Given the description of an element on the screen output the (x, y) to click on. 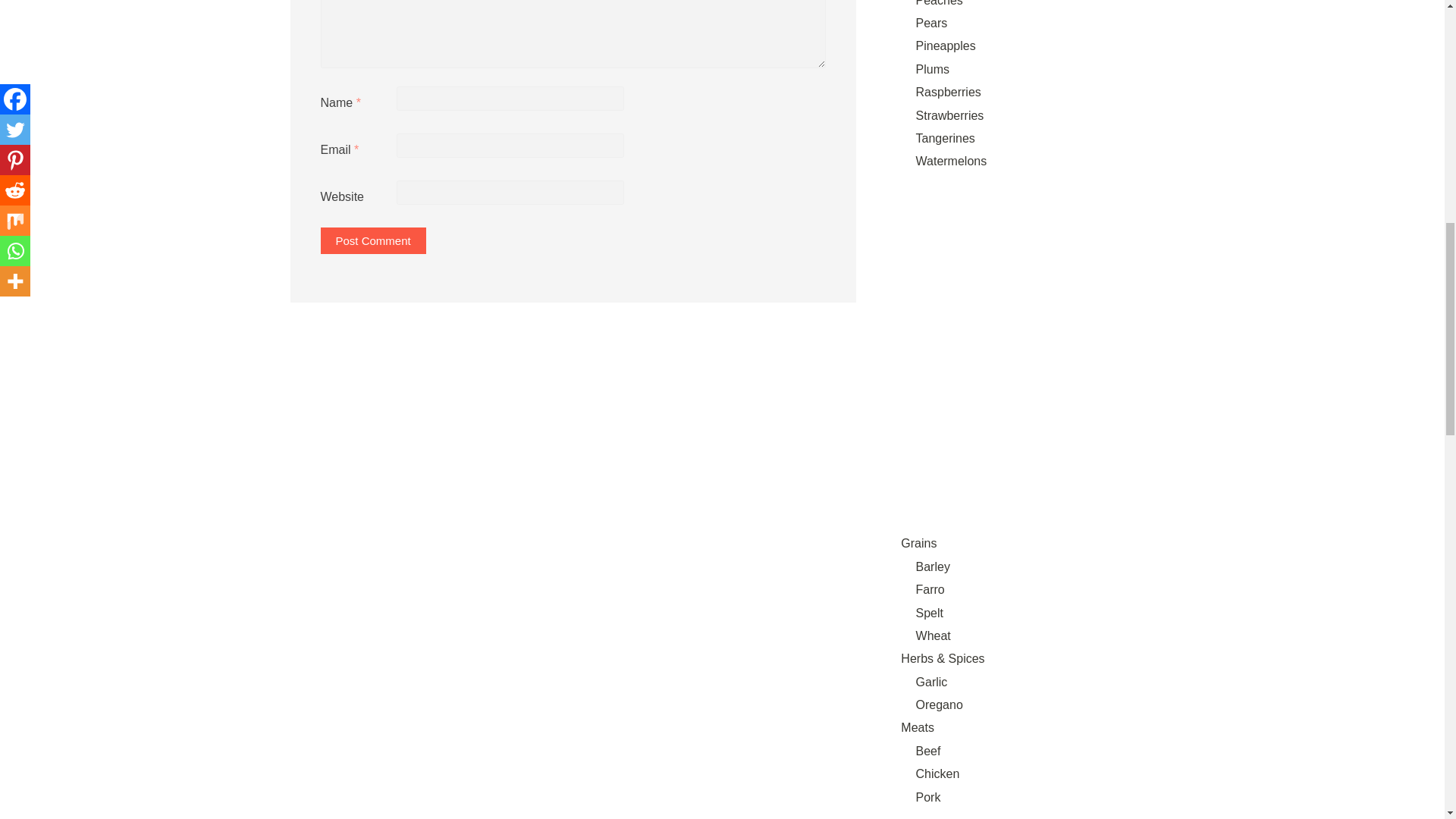
Post Comment (372, 240)
Advertisement (1020, 816)
Advertisement (1020, 254)
Advertisement (1020, 432)
